Given the description of an element on the screen output the (x, y) to click on. 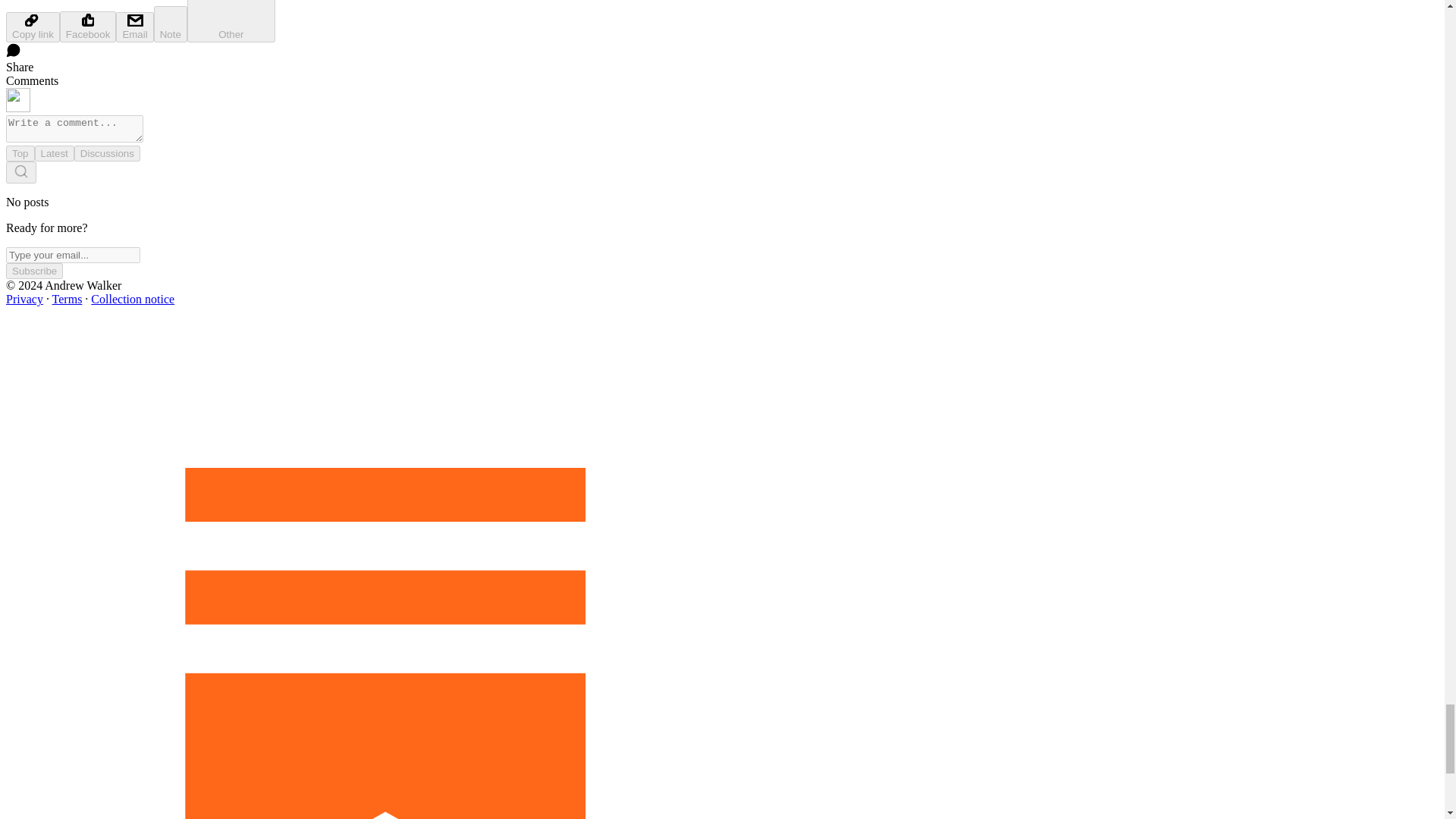
Email (134, 27)
Top (19, 153)
Other (231, 21)
Copy link (32, 27)
Note (170, 23)
Facebook (87, 26)
